Given the description of an element on the screen output the (x, y) to click on. 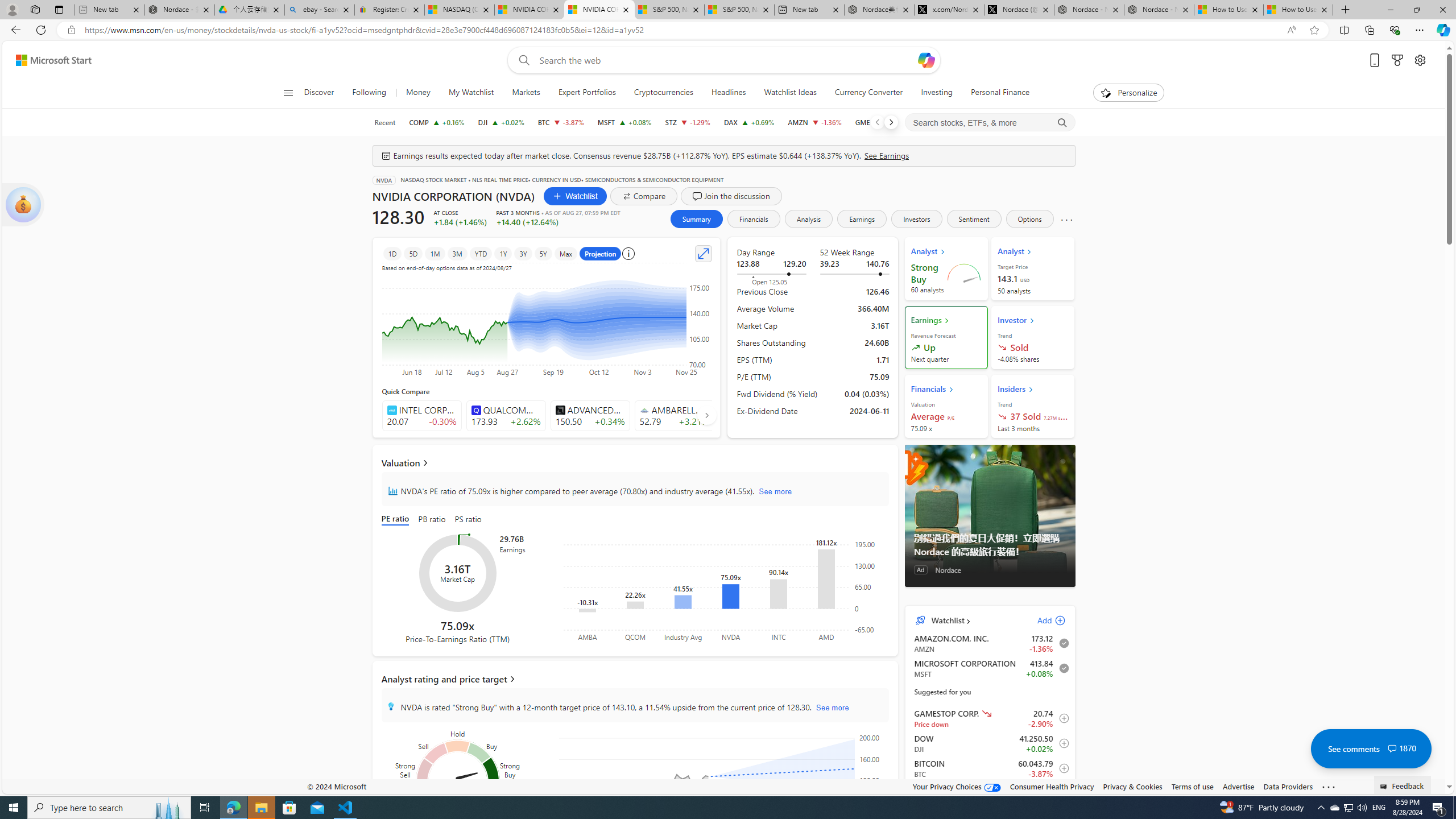
Open navigation menu (287, 92)
